Given the description of an element on the screen output the (x, y) to click on. 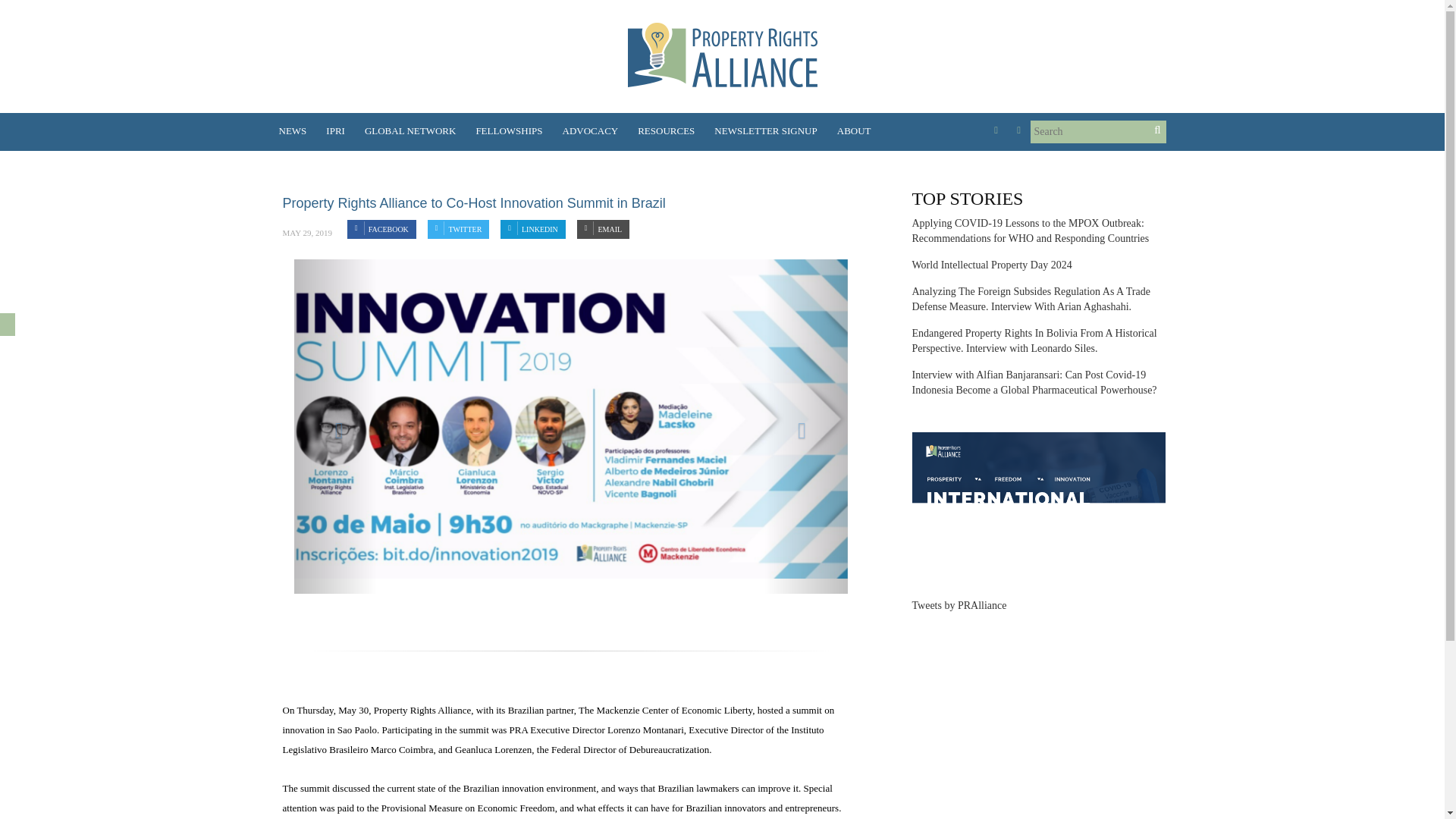
NEWSLETTER SIGNUP (765, 131)
FELLOWSHIPS (508, 131)
World Intellectual Property Day 2024 (991, 265)
GLOBAL NETWORK (410, 131)
LINKEDIN (532, 229)
Tweets by PRAlliance (958, 604)
EMAIL (602, 229)
NEWS (298, 131)
